Given the description of an element on the screen output the (x, y) to click on. 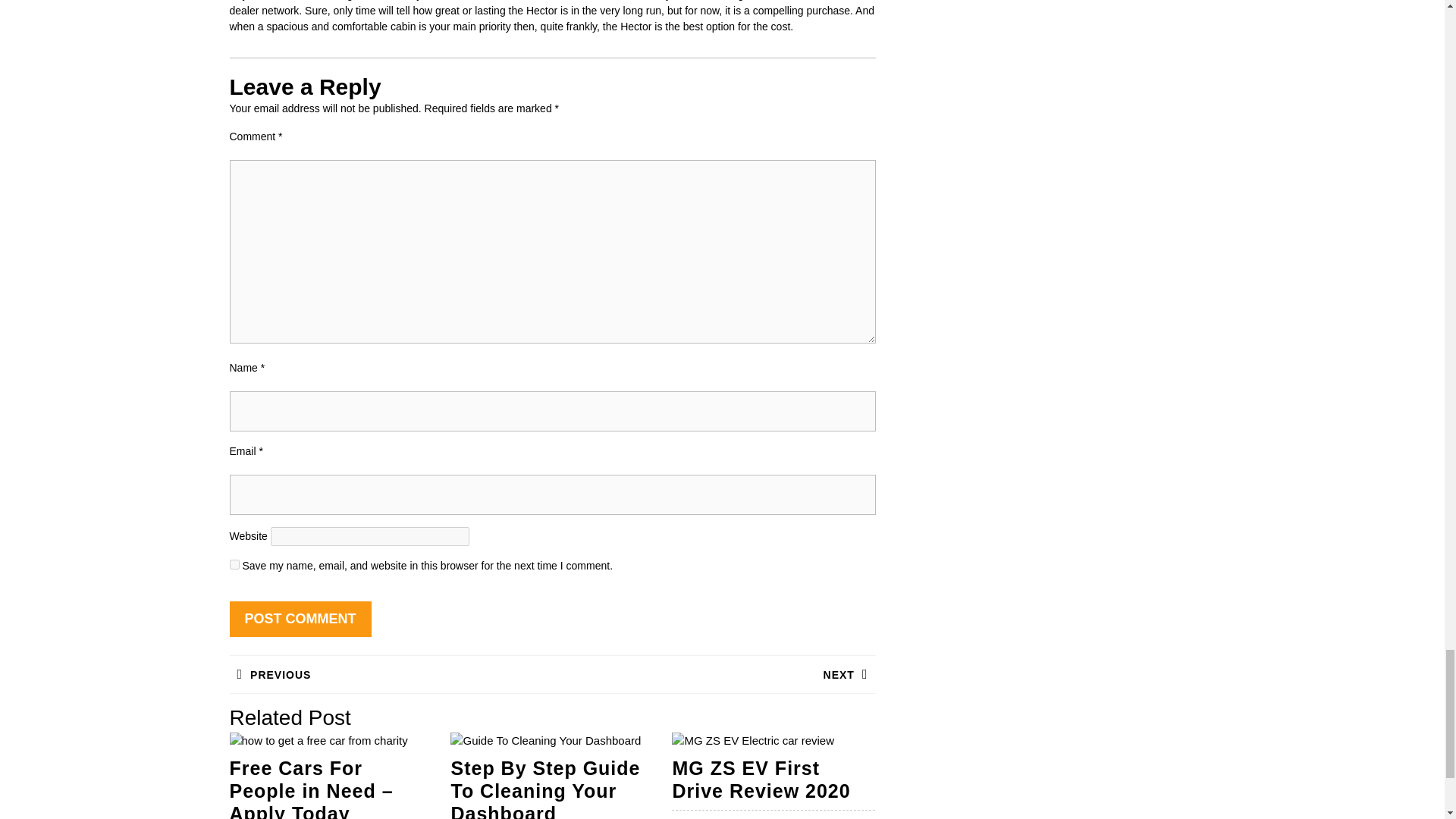
Post Comment (299, 619)
yes (233, 564)
Post Comment (713, 674)
